Given the description of an element on the screen output the (x, y) to click on. 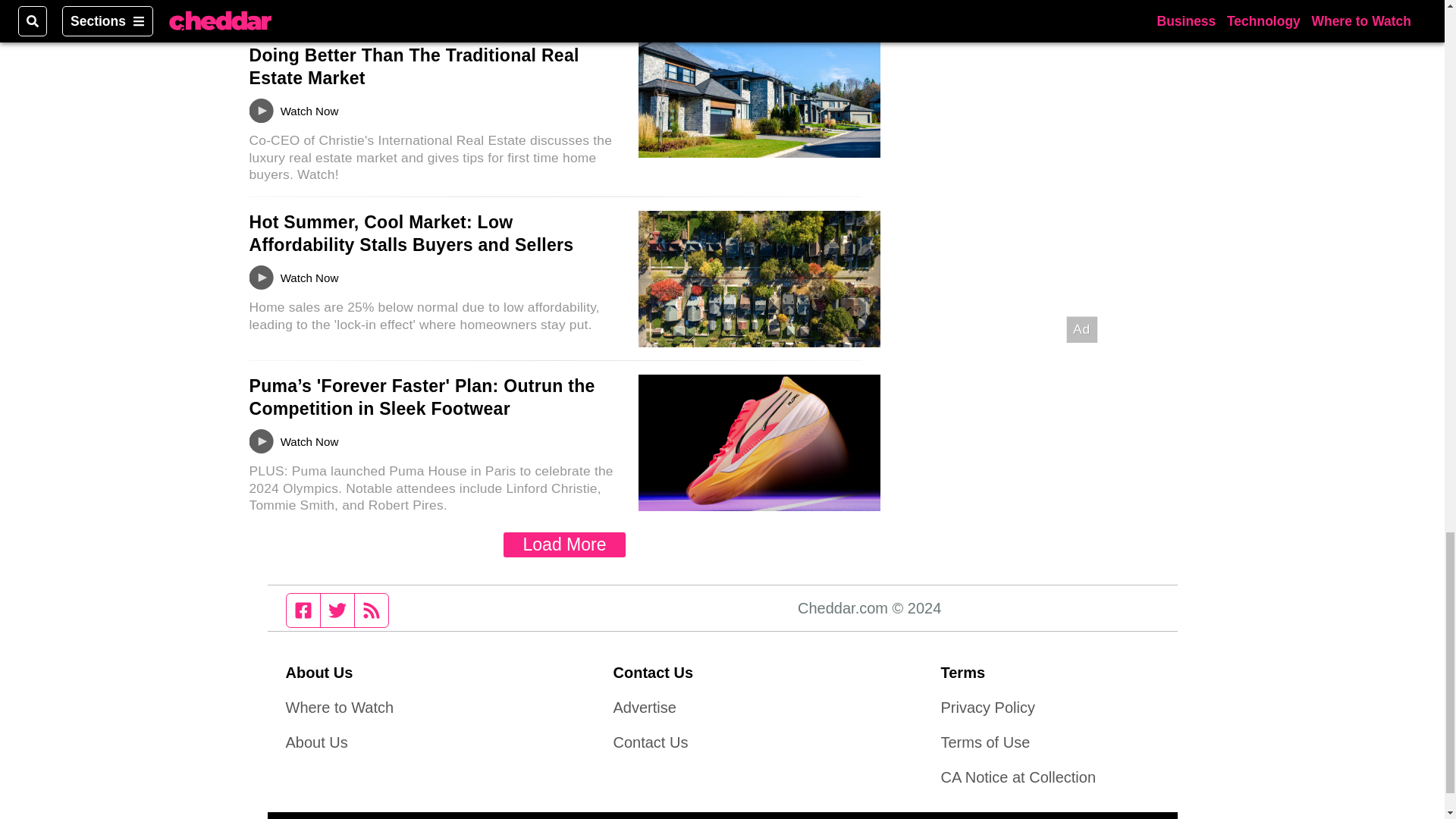
RSS feed (371, 610)
Twitter feed (336, 610)
Load More (564, 544)
Facebook page (303, 610)
